Given the description of an element on the screen output the (x, y) to click on. 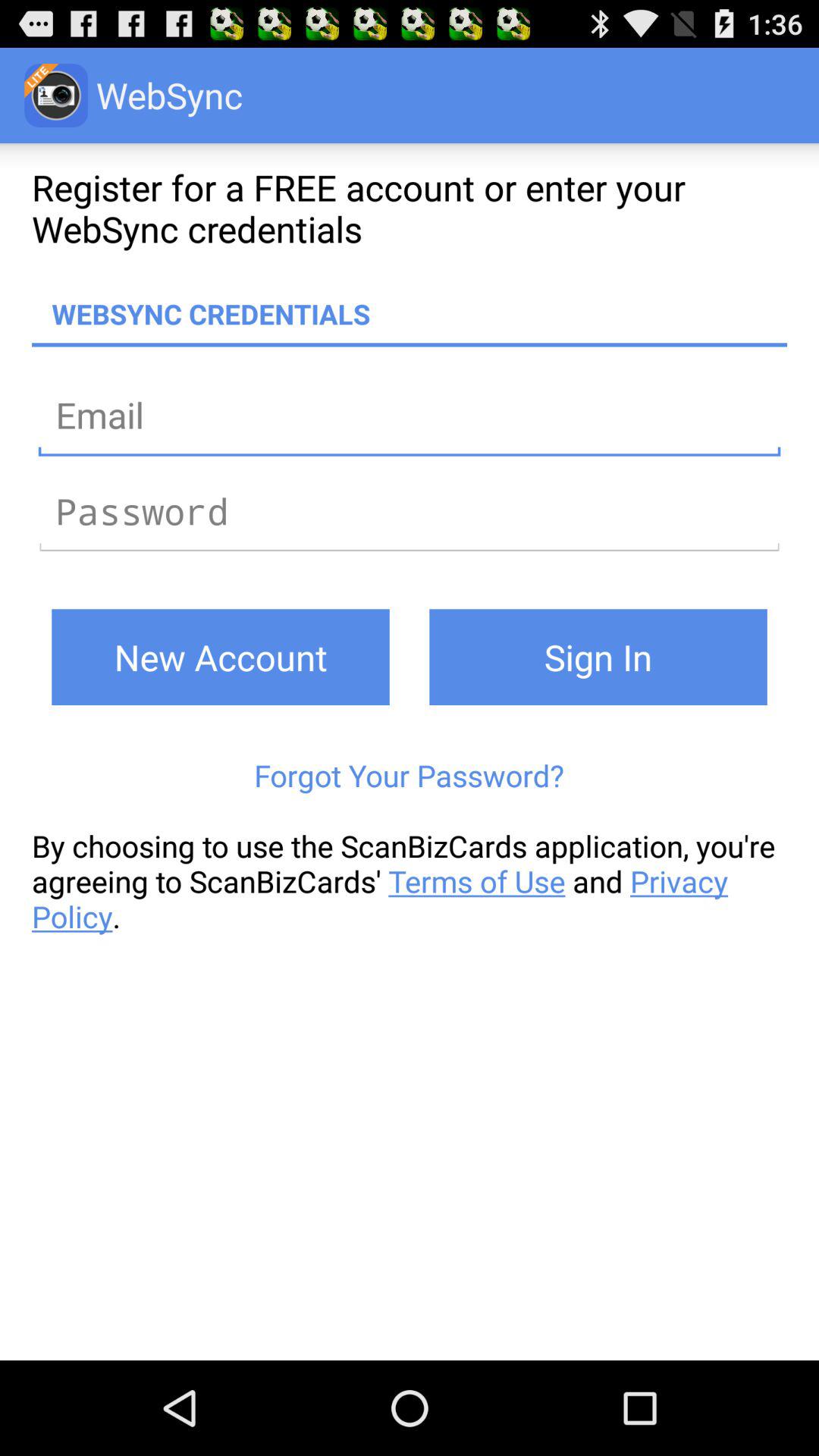
click icon next to sign in (220, 657)
